Given the description of an element on the screen output the (x, y) to click on. 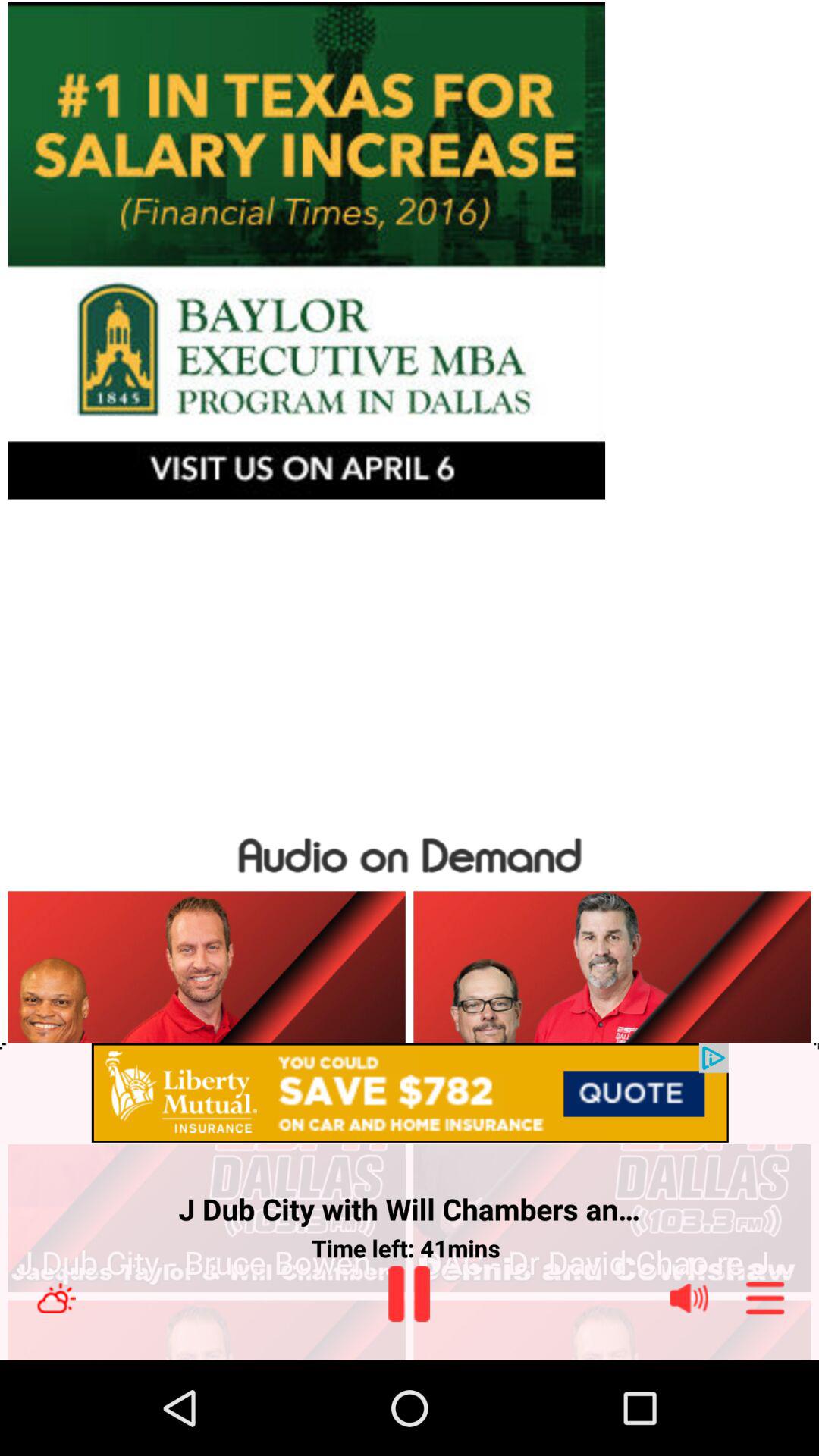
the blinking box with picture means thats where you can adjust your volume (688, 1298)
